Given the description of an element on the screen output the (x, y) to click on. 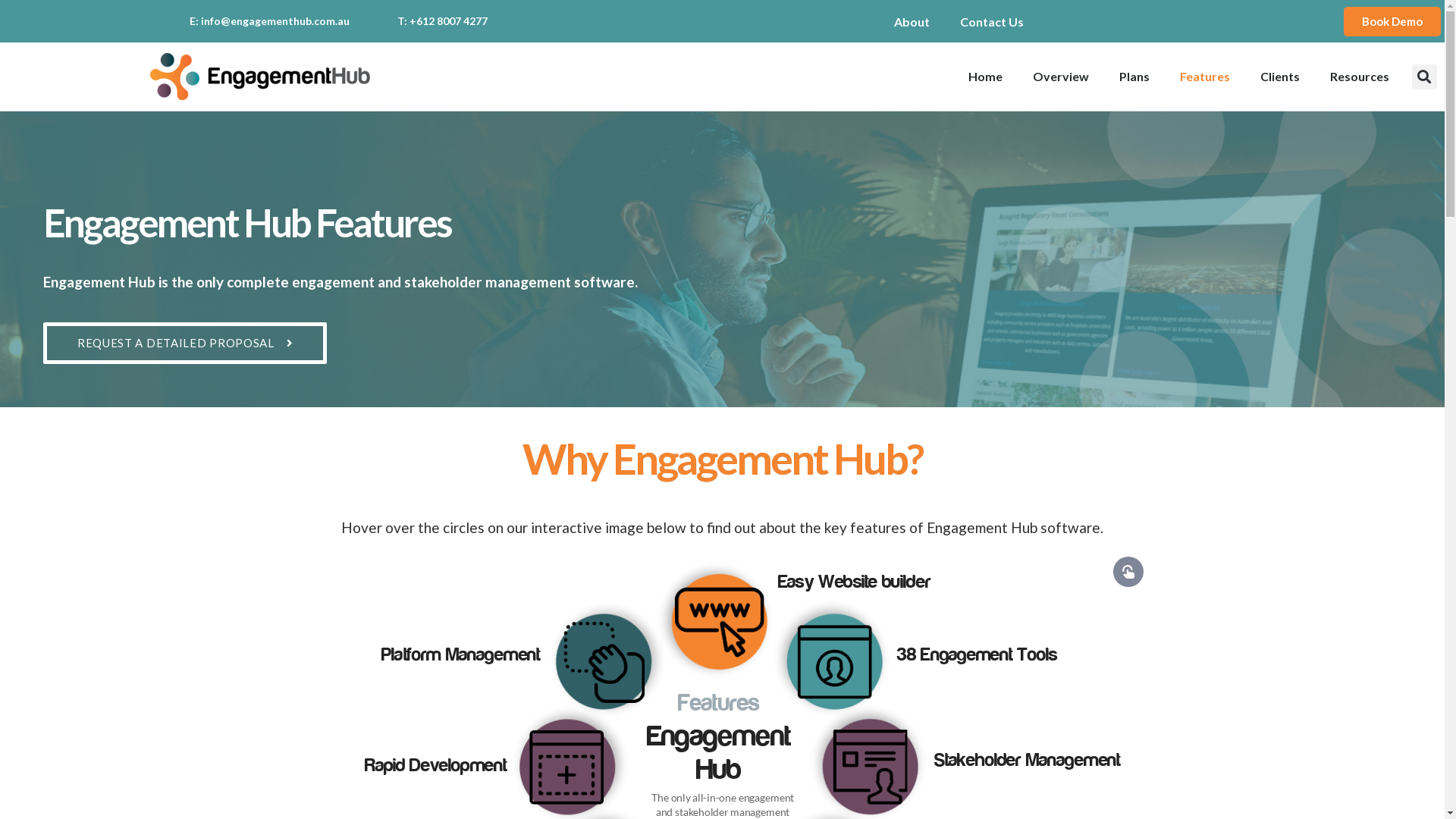
Overview Element type: text (1060, 76)
About Element type: text (911, 21)
REQUEST A DETAILED PROPOSAL Element type: text (185, 343)
Contact Us Element type: text (991, 21)
Plans Element type: text (1134, 76)
T: +612 8007 4277 Element type: text (442, 20)
Book Demo Element type: text (1391, 20)
Clients Element type: text (1279, 76)
Resources Element type: text (1359, 76)
Home Element type: text (985, 76)
Features Element type: text (1204, 76)
info@engagementhub.com.au Element type: text (274, 20)
